Given the description of an element on the screen output the (x, y) to click on. 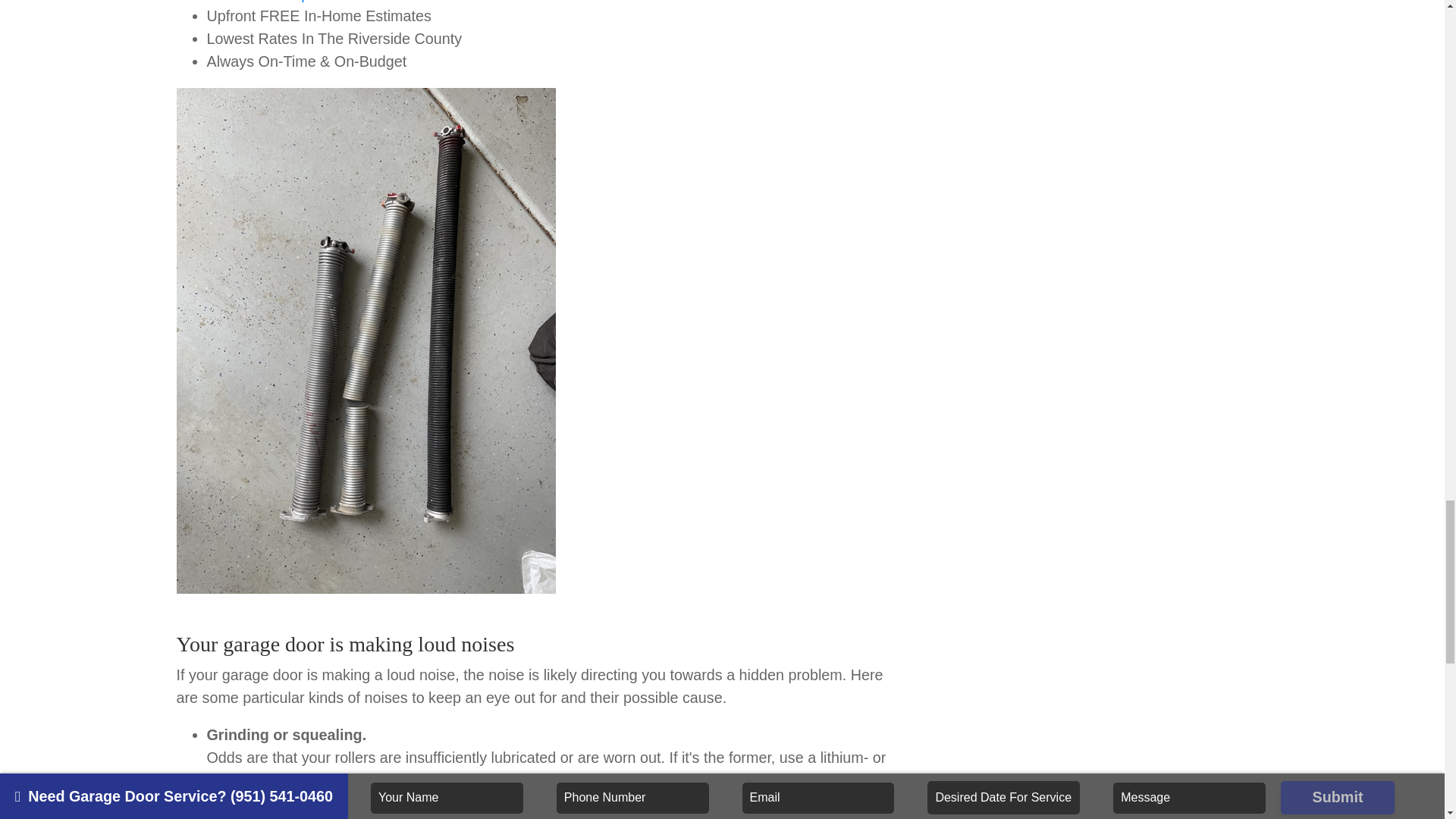
Yelp Reviews (325, 1)
